Given the description of an element on the screen output the (x, y) to click on. 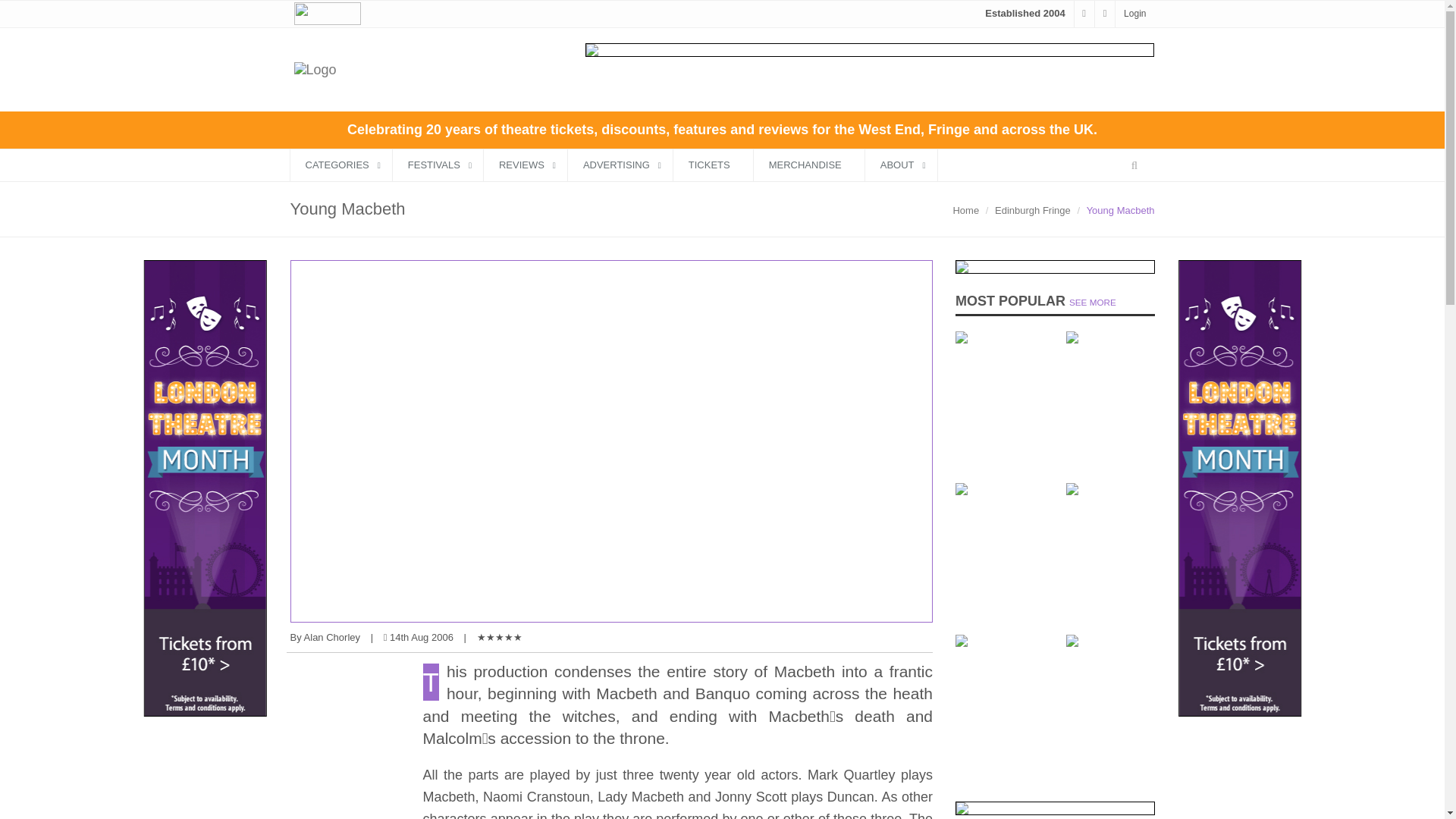
CATEGORIES (340, 164)
FESTIVALS (438, 164)
Login (1134, 13)
